Given the description of an element on the screen output the (x, y) to click on. 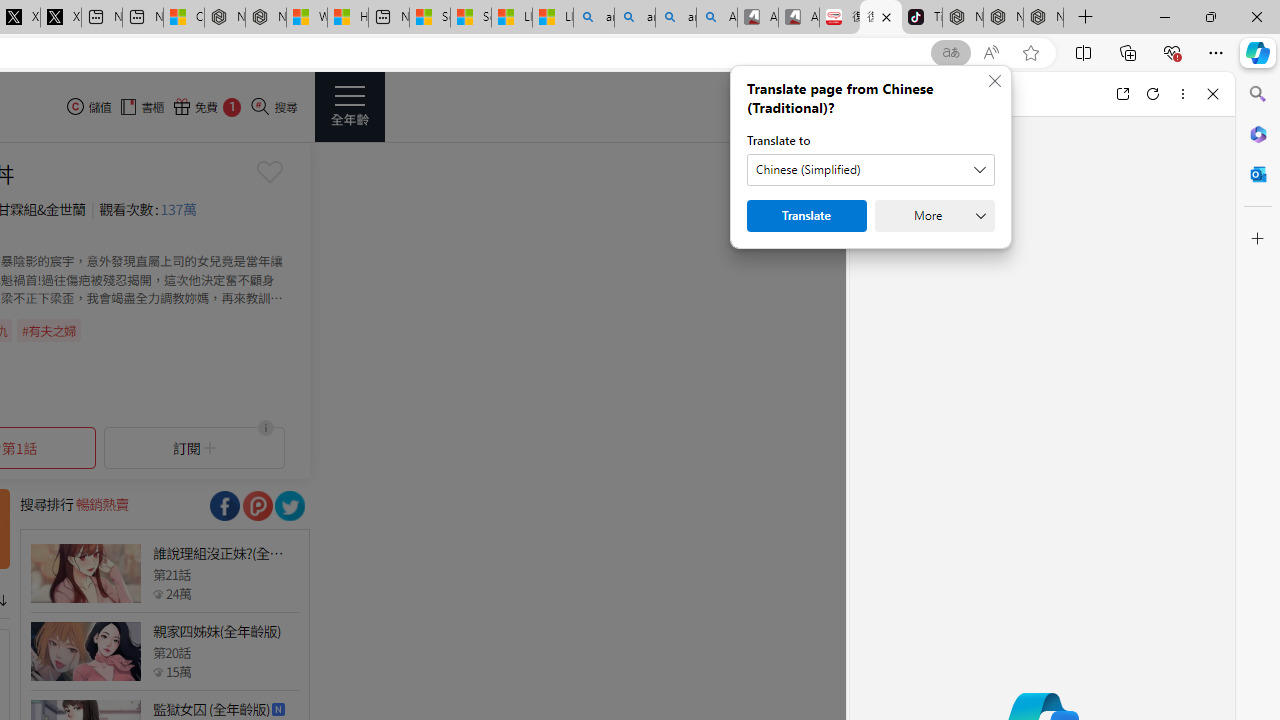
Class: epicon_starpoint (158, 671)
Open link in new tab (1122, 93)
Amazon Echo Robot - Search Images (717, 17)
amazon - Search Images (675, 17)
Customize (1258, 239)
Translate to (870, 169)
Class: thumb_img (85, 651)
